Given the description of an element on the screen output the (x, y) to click on. 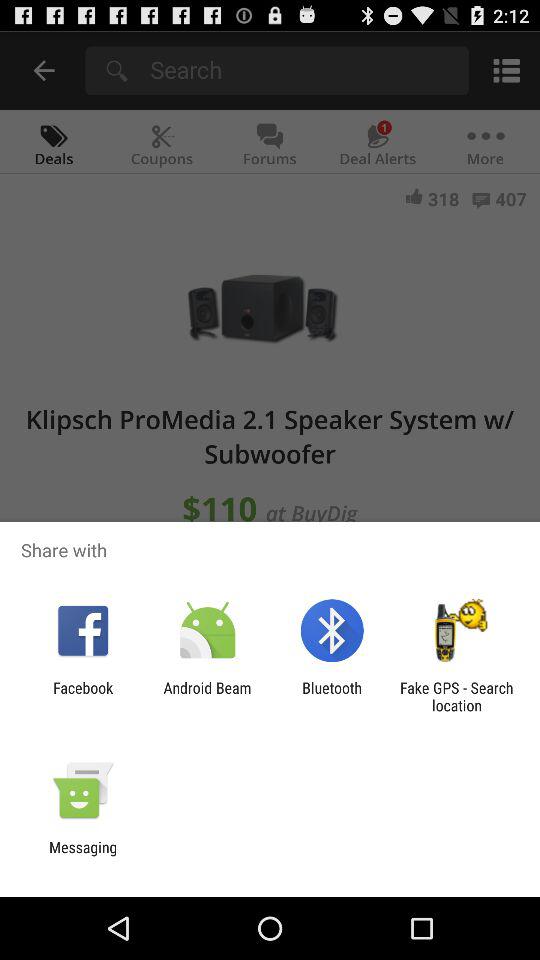
turn on the bluetooth (331, 696)
